Given the description of an element on the screen output the (x, y) to click on. 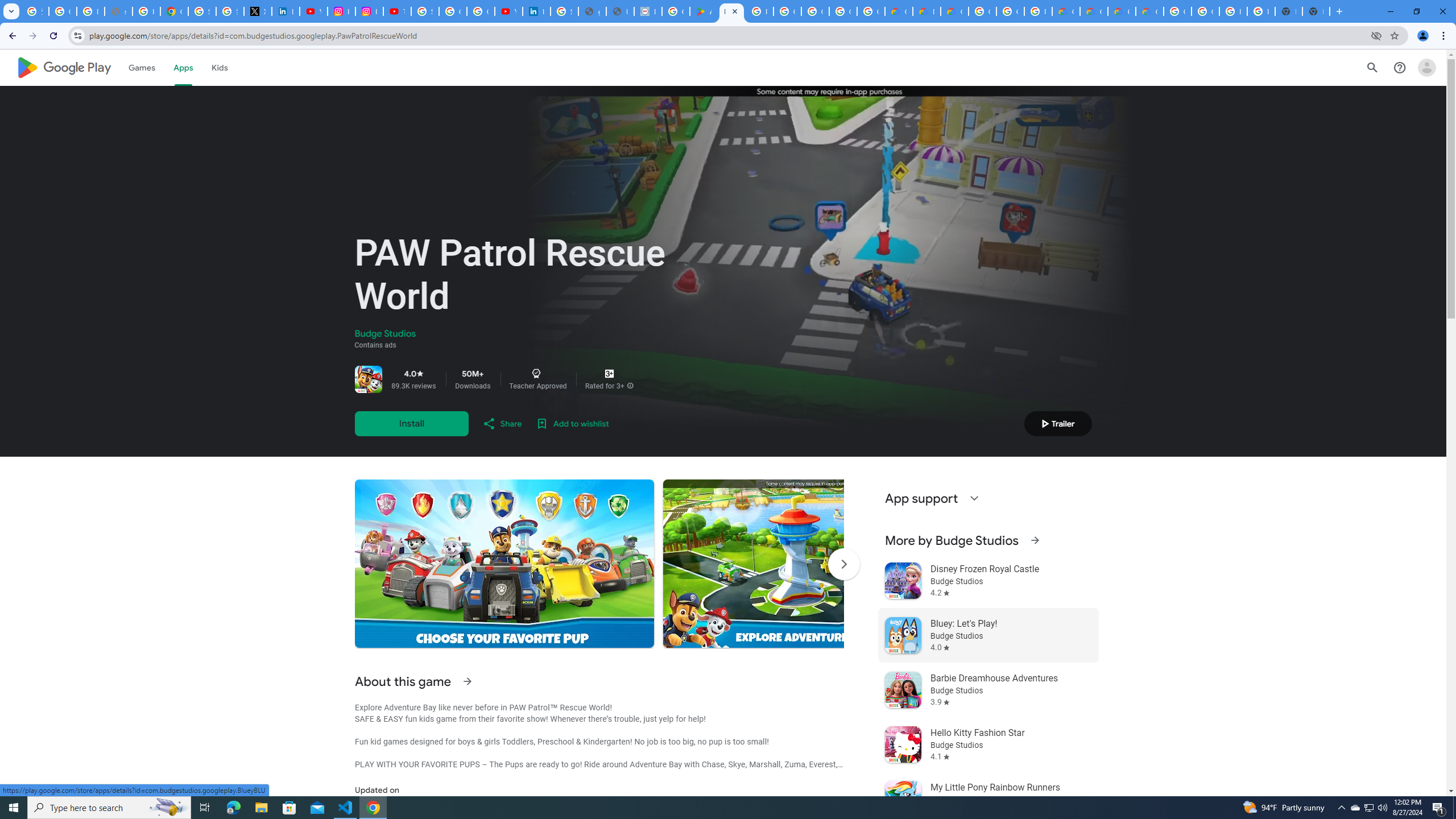
Customer Care | Google Cloud (1065, 11)
Sign in - Google Accounts (425, 11)
Android Apps on Google Play (703, 11)
Sign in - Google Accounts (564, 11)
Privacy Help Center - Policies Help (146, 11)
Third-party cookies blocked (1376, 35)
